Given the description of an element on the screen output the (x, y) to click on. 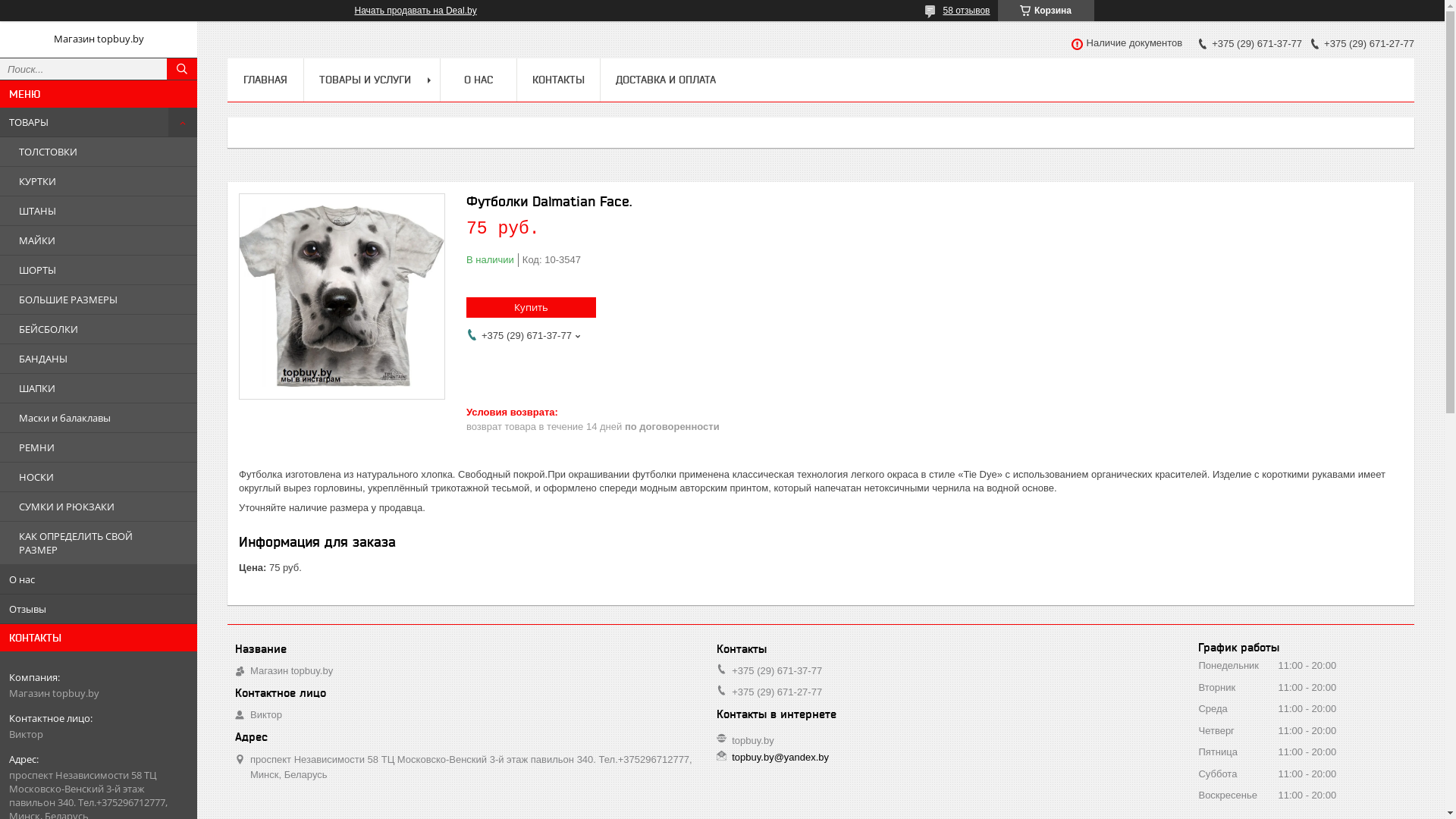
topbuy.by Element type: text (752, 740)
topbuy.by@yandex.by Element type: text (779, 757)
